Given the description of an element on the screen output the (x, y) to click on. 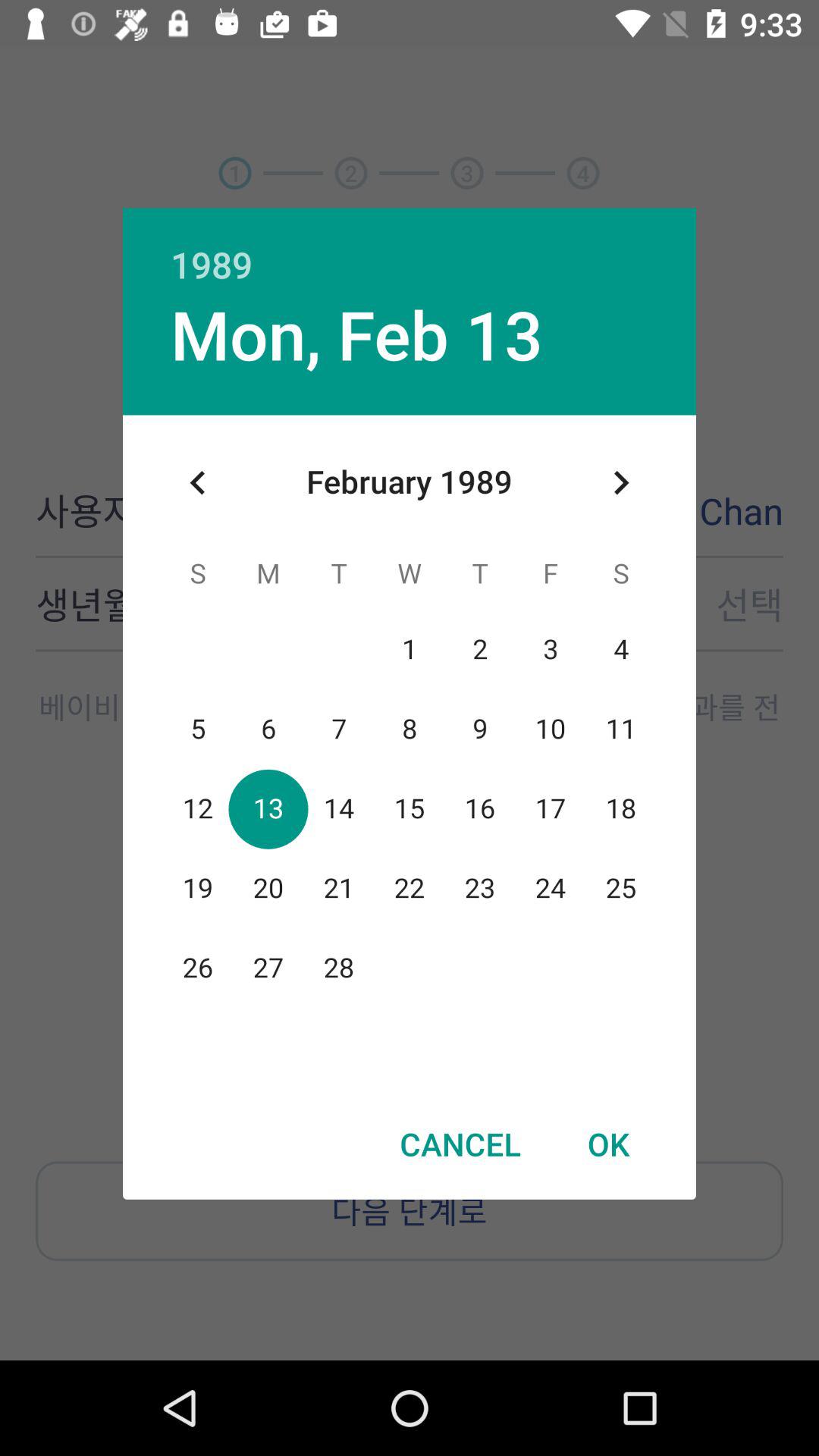
open the item above the ok item (620, 482)
